Given the description of an element on the screen output the (x, y) to click on. 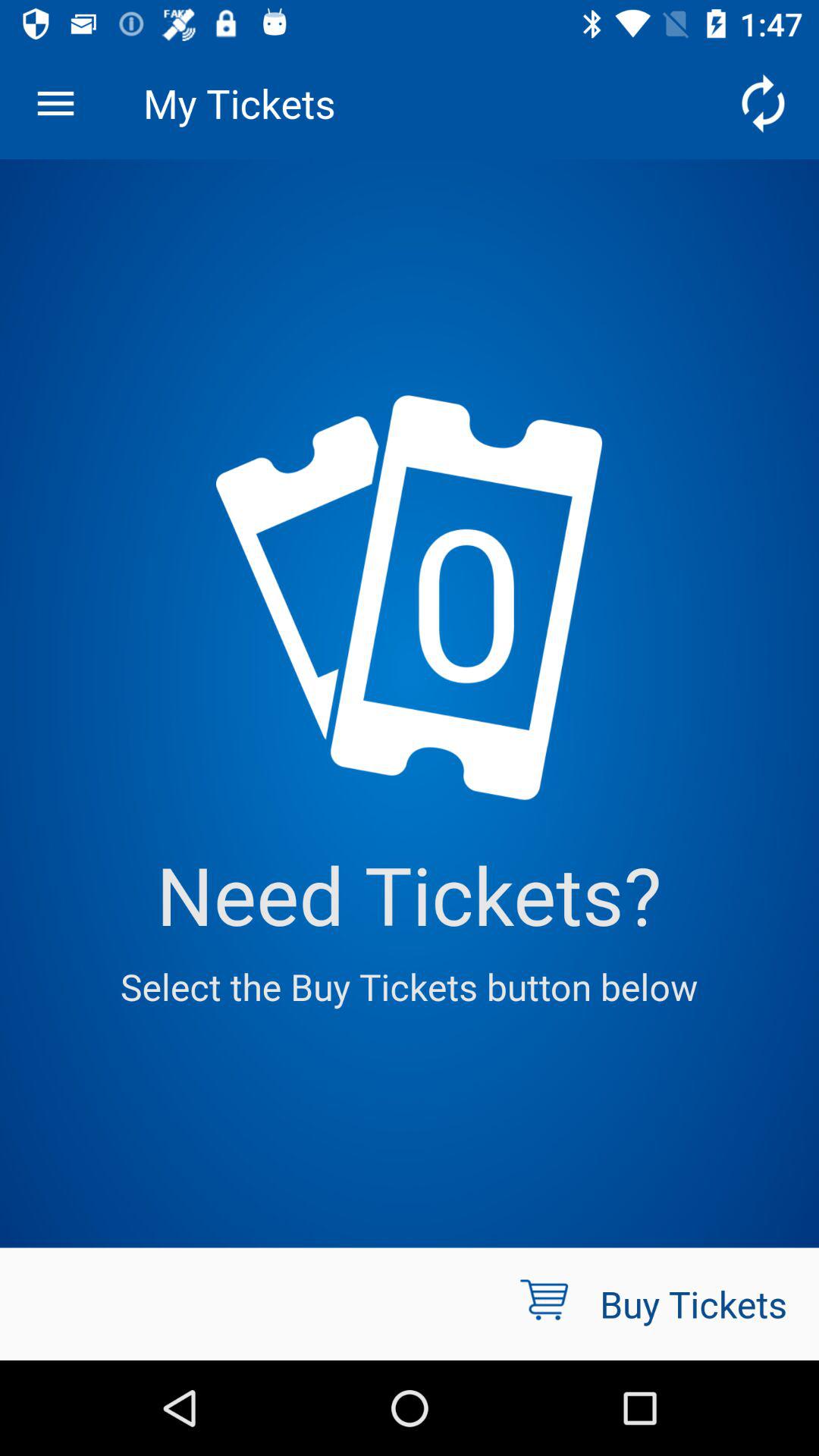
tap item next to my tickets icon (55, 103)
